Given the description of an element on the screen output the (x, y) to click on. 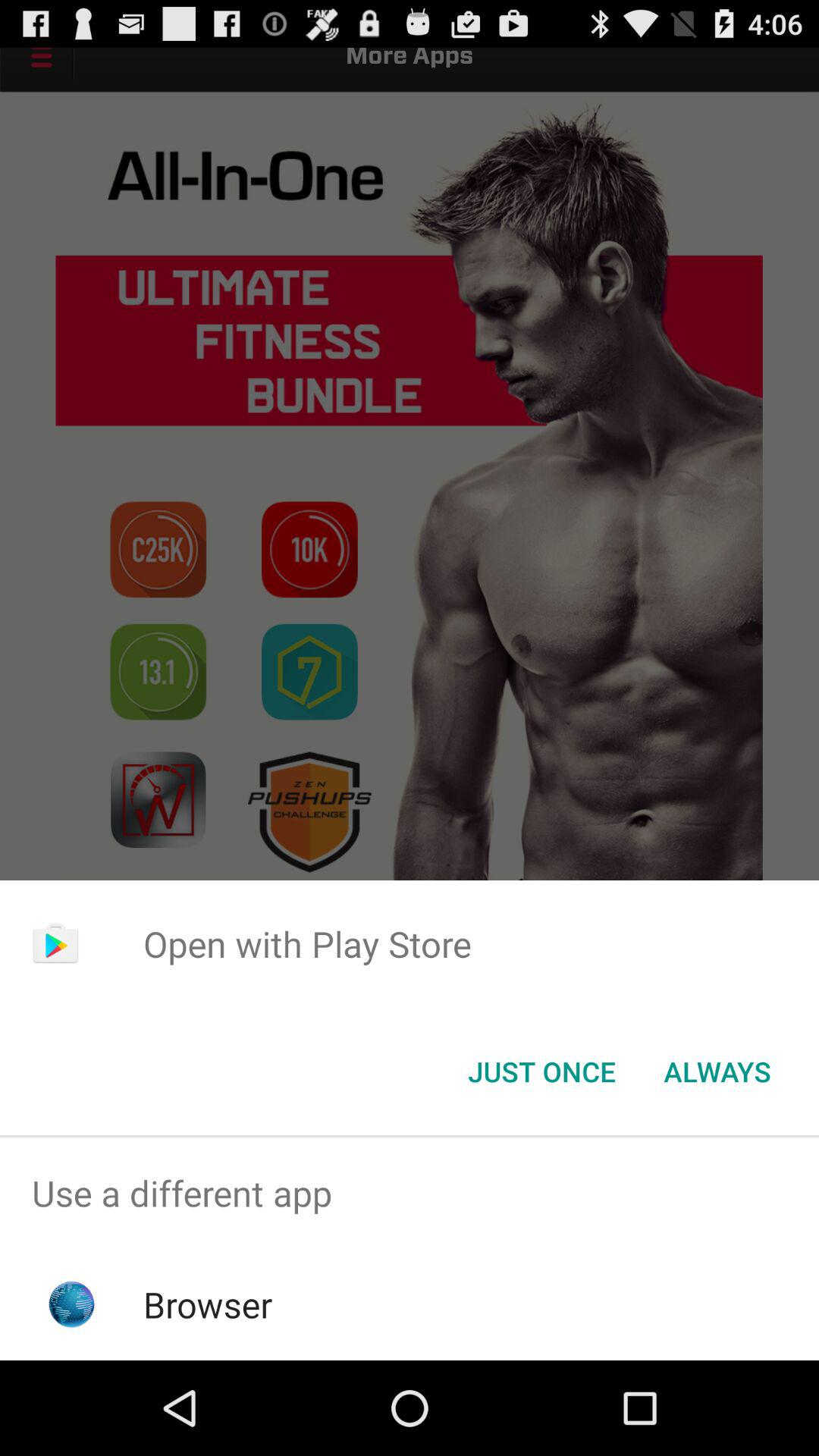
tap icon below use a different item (207, 1304)
